Given the description of an element on the screen output the (x, y) to click on. 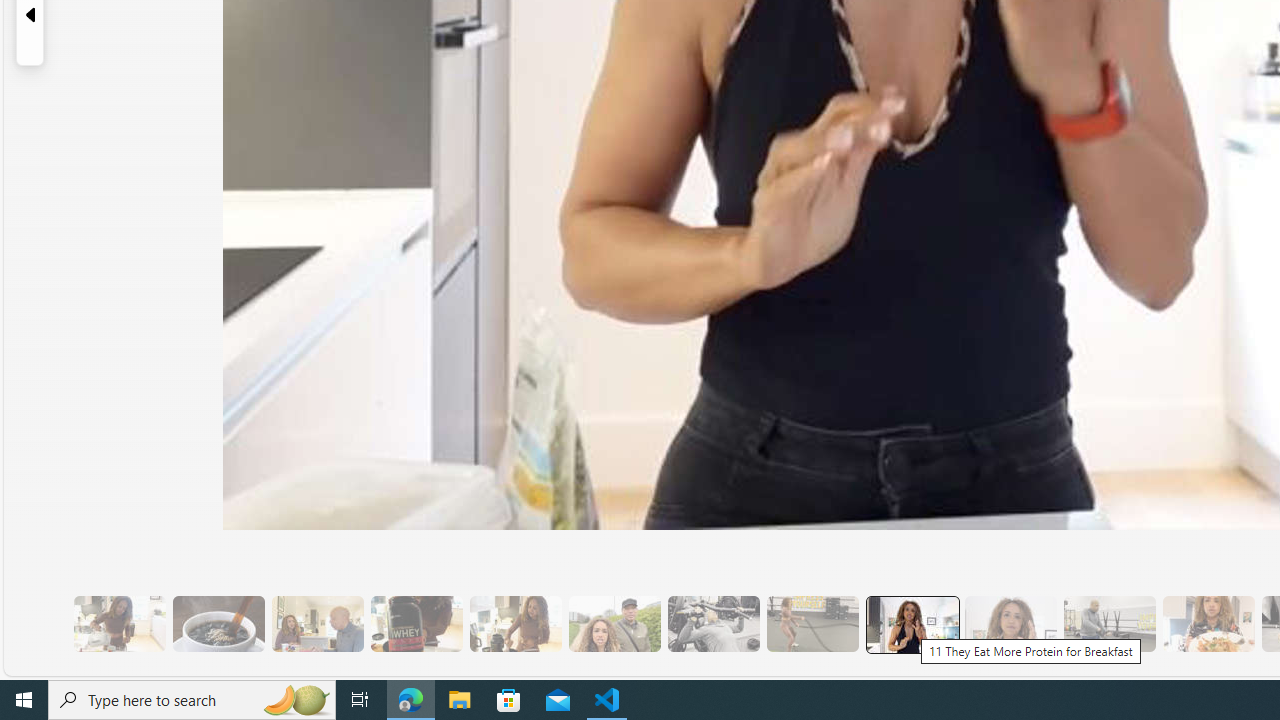
7 They Don't Skip Meals (514, 624)
9 They Do Bench Exercises (713, 624)
3 They Drink Lemon Tea (119, 624)
5 She Eats Less Than Her Husband (317, 624)
3 They Drink Lemon Tea (119, 624)
9 They Do Bench Exercises (713, 624)
11 They Eat More Protein for Breakfast (911, 624)
8 They Walk to the Gym (614, 624)
5 She Eats Less Than Her Husband (317, 624)
11 They Eat More Protein for Breakfast (912, 624)
13 Her Husband Does Group Cardio Classs (1108, 624)
10 Then, They Do HIIT Cardio (811, 624)
10 Then, They Do HIIT Cardio (811, 624)
14 They Have Salmon and Veggies for Dinner (1208, 624)
